Given the description of an element on the screen output the (x, y) to click on. 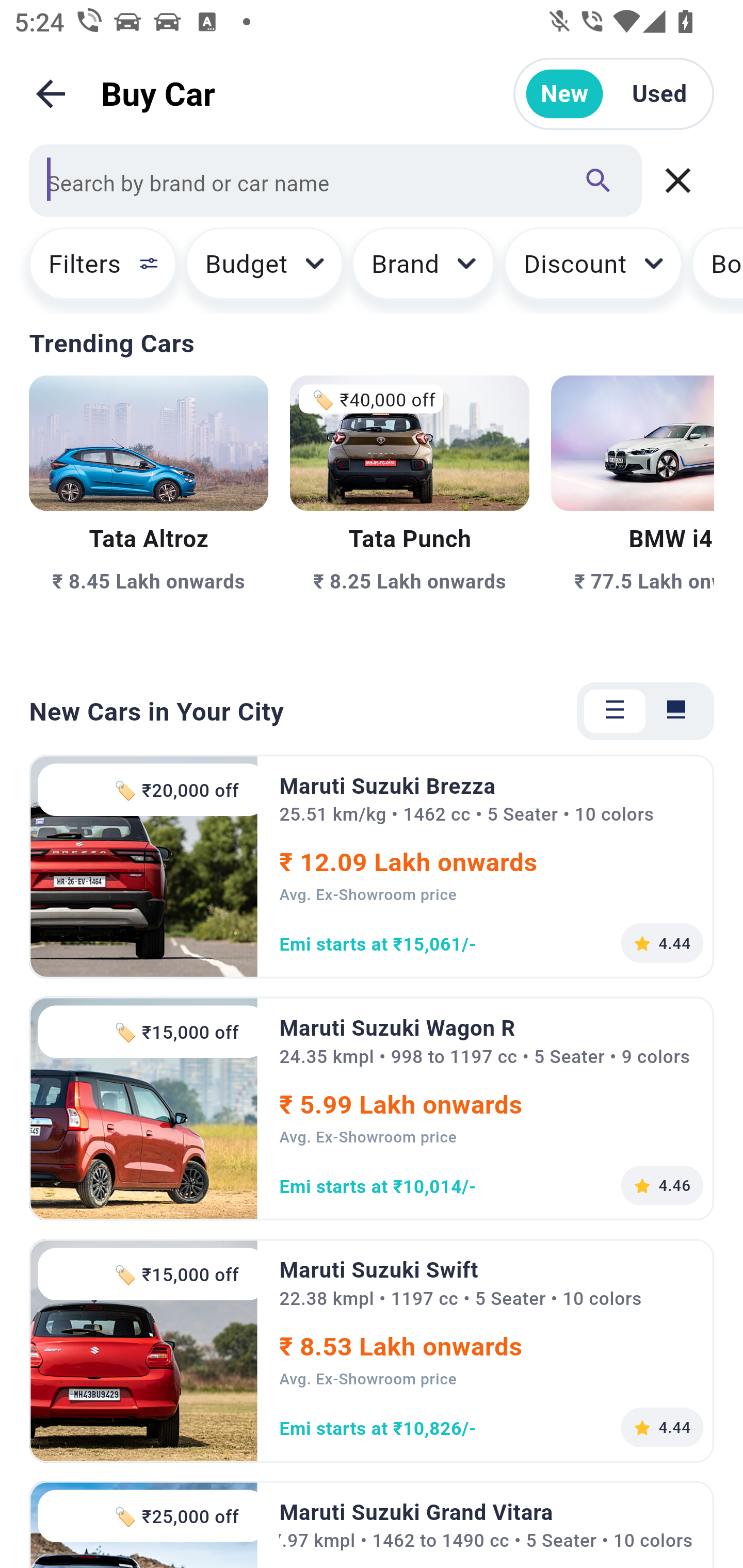
Back (50, 93)
New (564, 93)
Used (659, 93)
Filters (93, 270)
Budget (264, 270)
Brand (423, 270)
Discount (592, 270)
₹ 8.45 Lakh onwards Tata Altroz (148, 515)
🏷️ ₹40,000 off
₹ 8.25 Lakh onwards Tata Punch (409, 515)
₹ 77.5 Lakh onwards BMW i4 (632, 515)
Tab 1 of 2 (614, 710)
Tab 2 of 2 (675, 710)
